Given the description of an element on the screen output the (x, y) to click on. 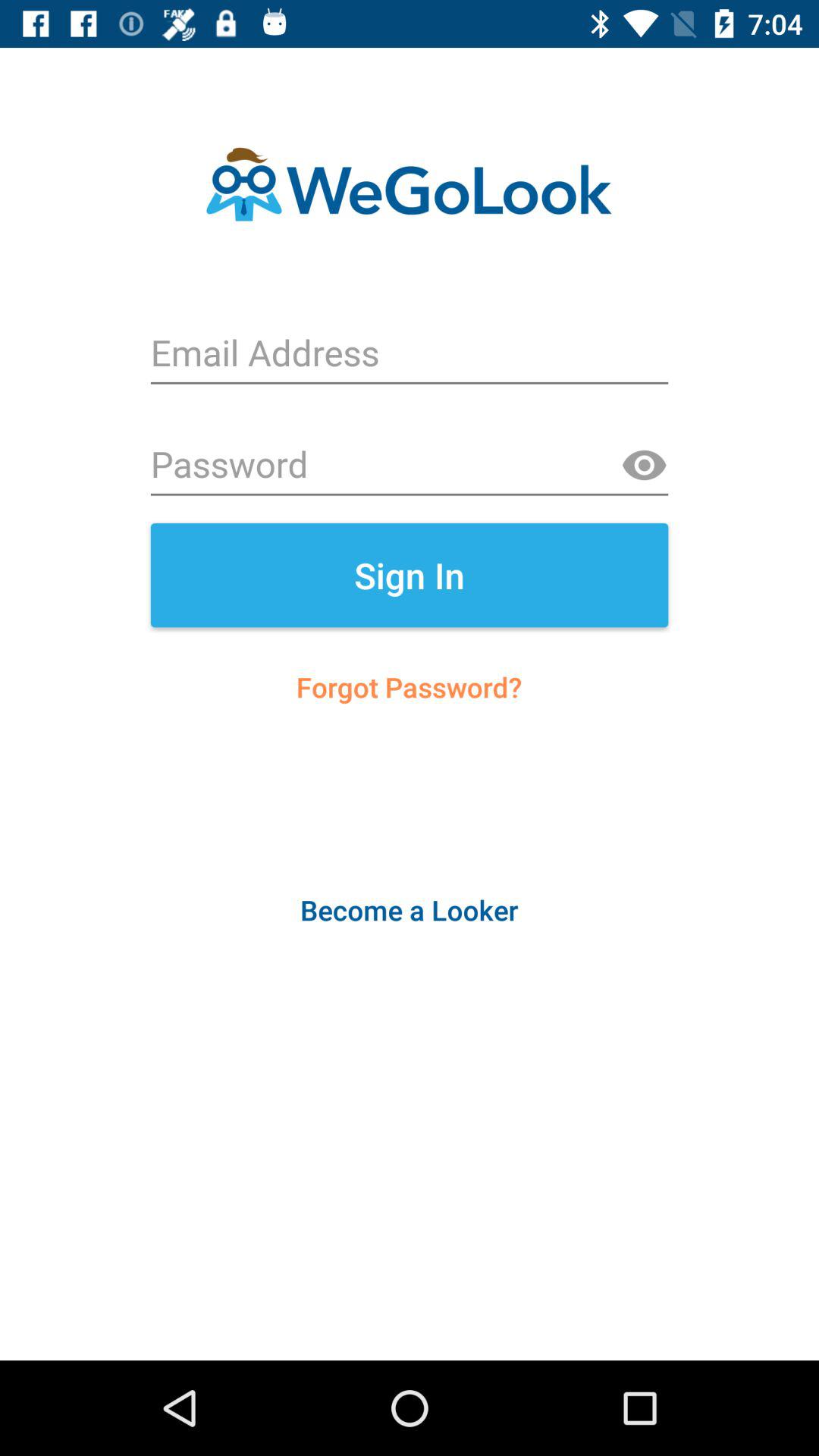
open become a looker item (409, 909)
